Given the description of an element on the screen output the (x, y) to click on. 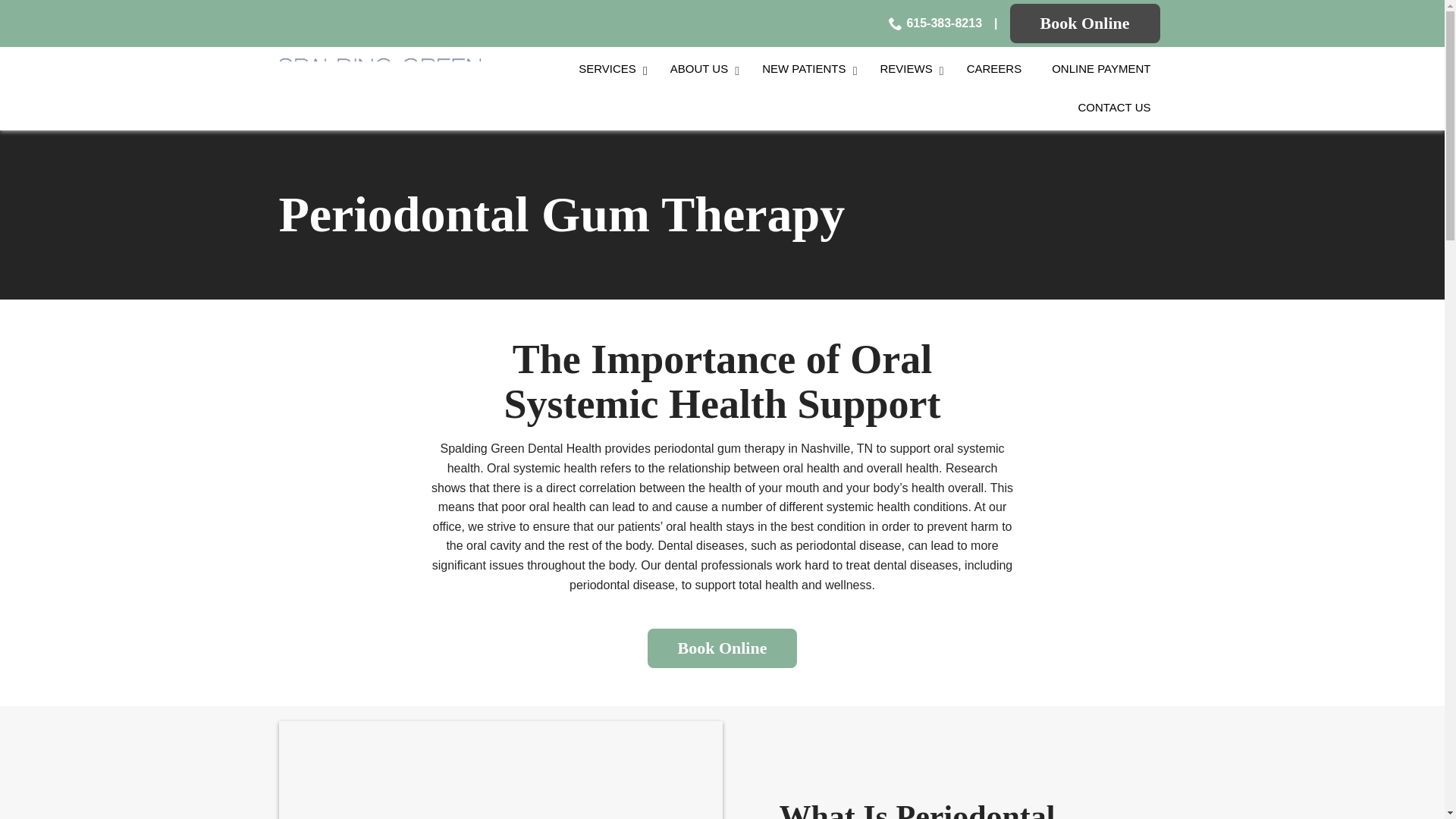
SERVICES (609, 68)
REVIEWS (907, 68)
615-383-8213 (934, 23)
ABOUT US (700, 68)
Book Online (1085, 23)
NEW PATIENTS (805, 68)
